Given the description of an element on the screen output the (x, y) to click on. 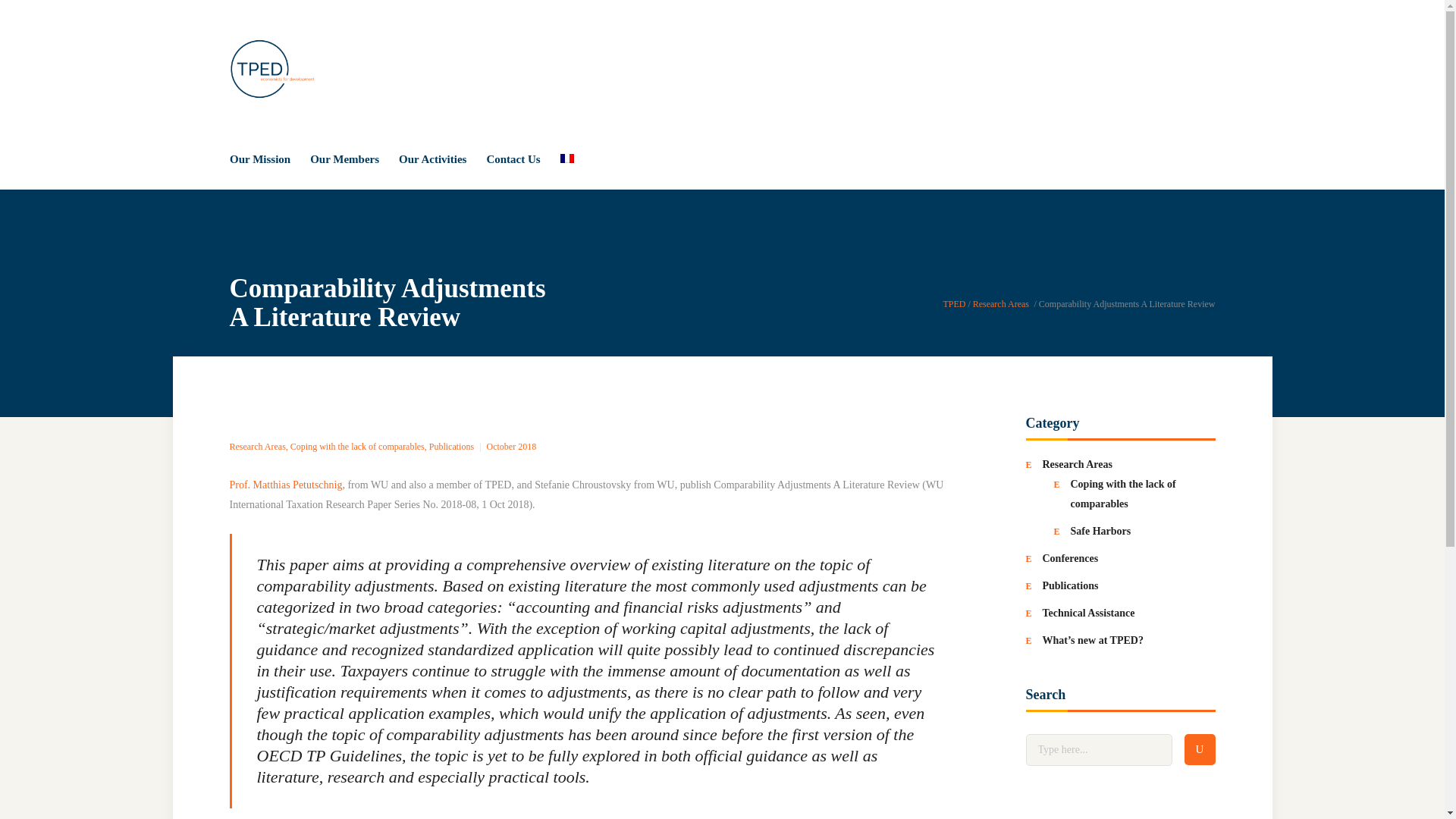
U (1200, 748)
Our Members (343, 158)
Research Areas (1000, 303)
TPED (953, 303)
Our Activities (432, 158)
Publications (1069, 585)
Our Mission (264, 158)
Contact Us (513, 158)
Prof. Matthias Petutschnig (285, 484)
Safe Harbors (1100, 531)
Publications (451, 446)
U (1200, 748)
Research Areas (1077, 464)
